Given the description of an element on the screen output the (x, y) to click on. 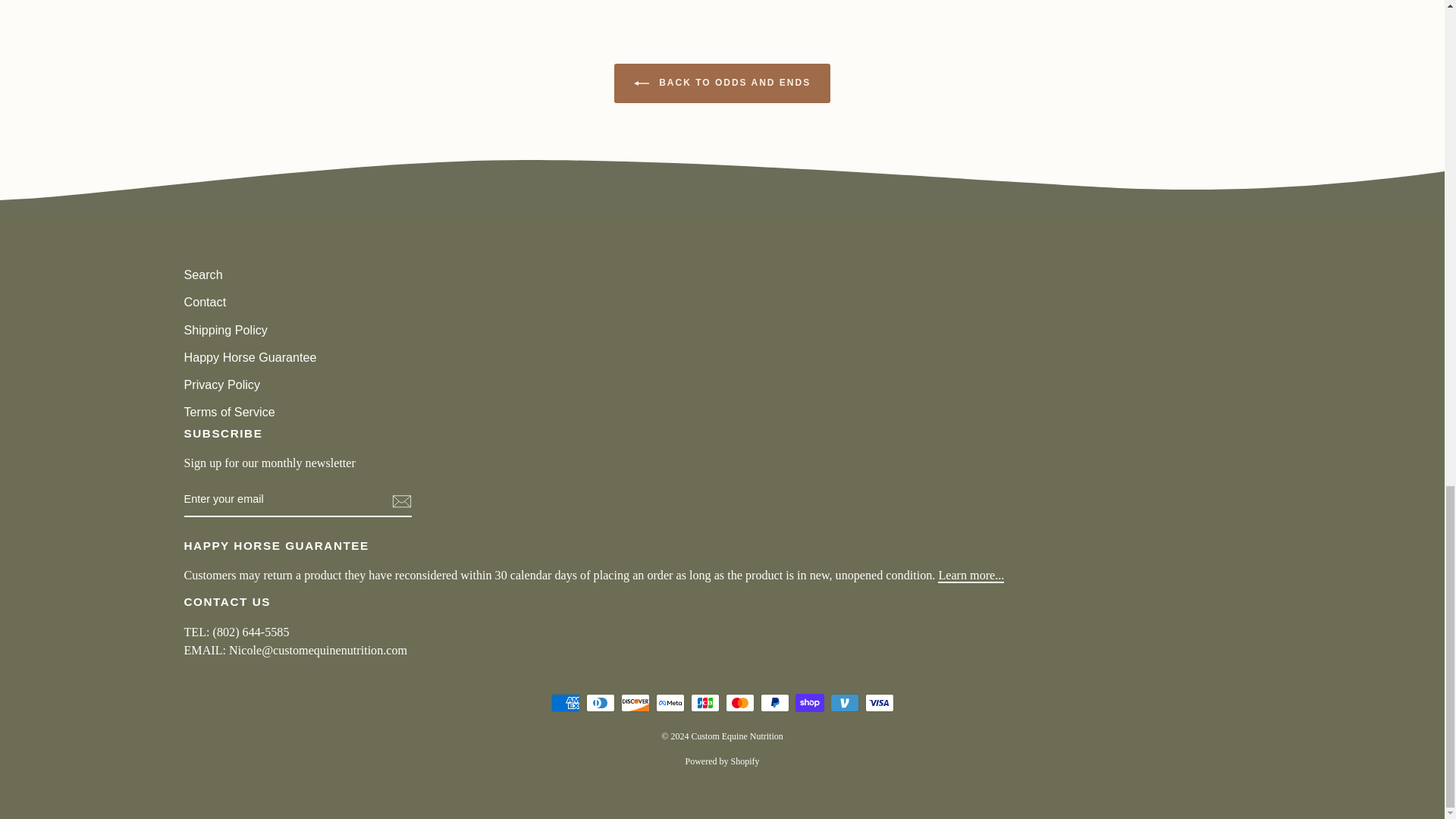
JCB (704, 702)
Diners Club (599, 702)
Meta Pay (669, 702)
Happy Horse Guarantee (970, 575)
PayPal (774, 702)
Venmo (844, 702)
Visa (878, 702)
ICON-LEFT-ARROW (641, 83)
Discover (634, 702)
Mastercard (739, 702)
Shop Pay (809, 702)
American Express (564, 702)
icon-email (400, 501)
